Given the description of an element on the screen output the (x, y) to click on. 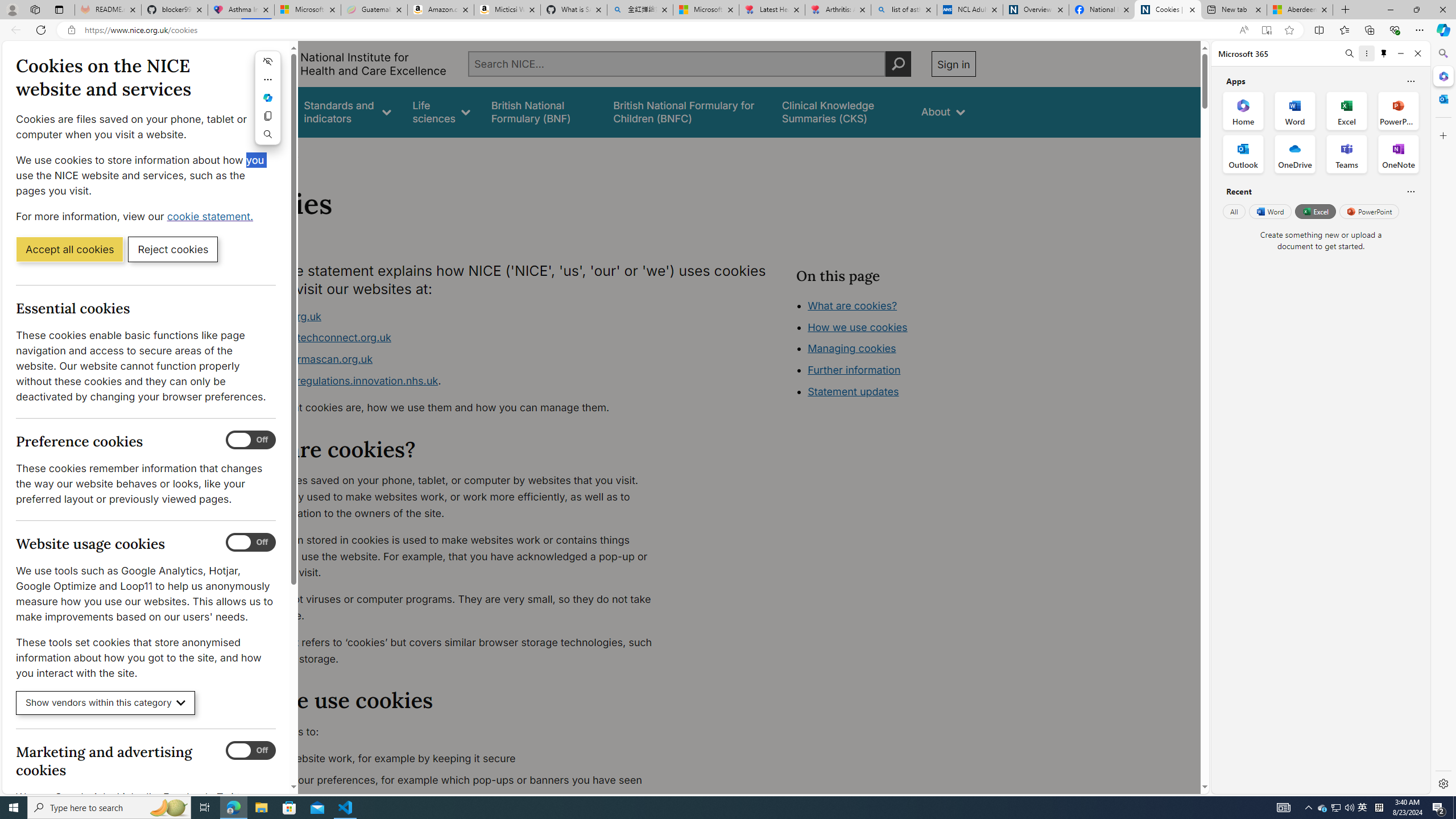
Reject cookies (173, 248)
www.nice.org.uk (279, 315)
Aberdeen, Hong Kong SAR hourly forecast | Microsoft Weather (1300, 9)
What are cookies? (852, 305)
cookie statement. (Opens in a new window) (211, 215)
false (841, 111)
Home> (246, 152)
